Given the description of an element on the screen output the (x, y) to click on. 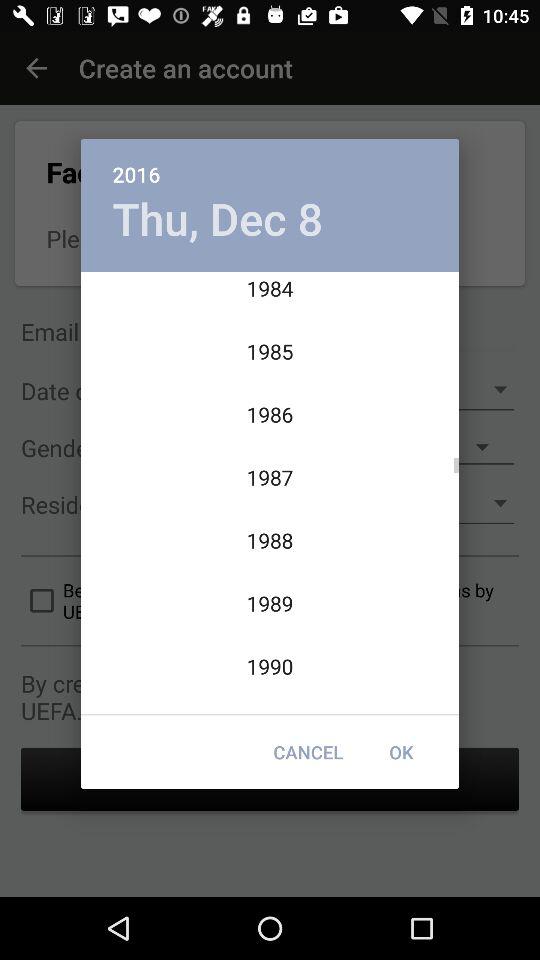
select icon below the 1986 (401, 751)
